Given the description of an element on the screen output the (x, y) to click on. 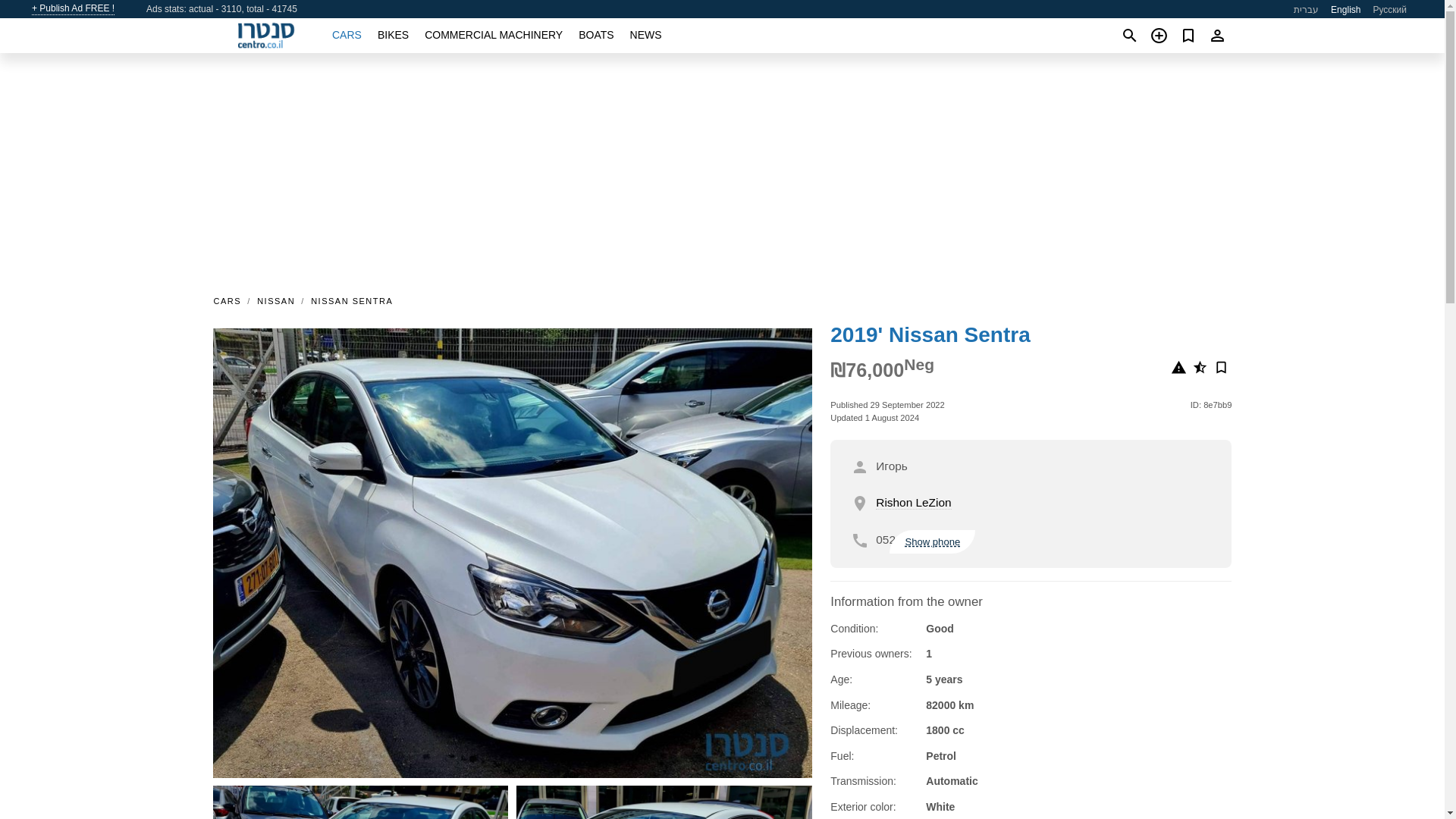
CARS (230, 300)
Rishon LeZion (913, 502)
NISSAN (275, 300)
NEWS (646, 35)
BIKES (393, 35)
CARS (346, 35)
COMMERCIAL MACHINERY (493, 35)
BOATS (595, 35)
NISSAN SENTRA (351, 300)
